Given the description of an element on the screen output the (x, y) to click on. 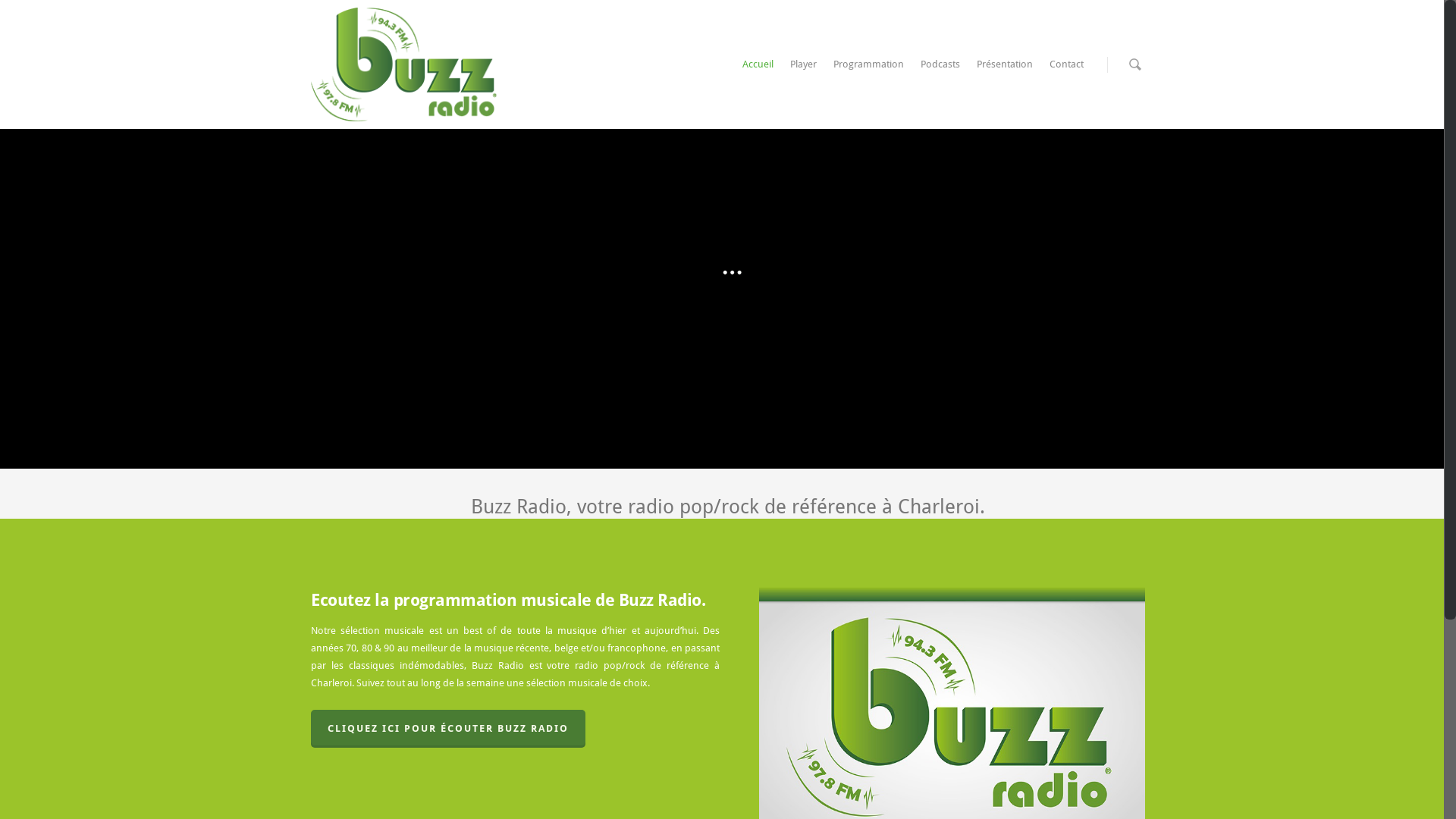
Contact Element type: text (1066, 67)
Accueil Element type: text (757, 67)
Player Element type: text (803, 67)
Programmation Element type: text (868, 67)
Podcasts Element type: text (940, 67)
